Given the description of an element on the screen output the (x, y) to click on. 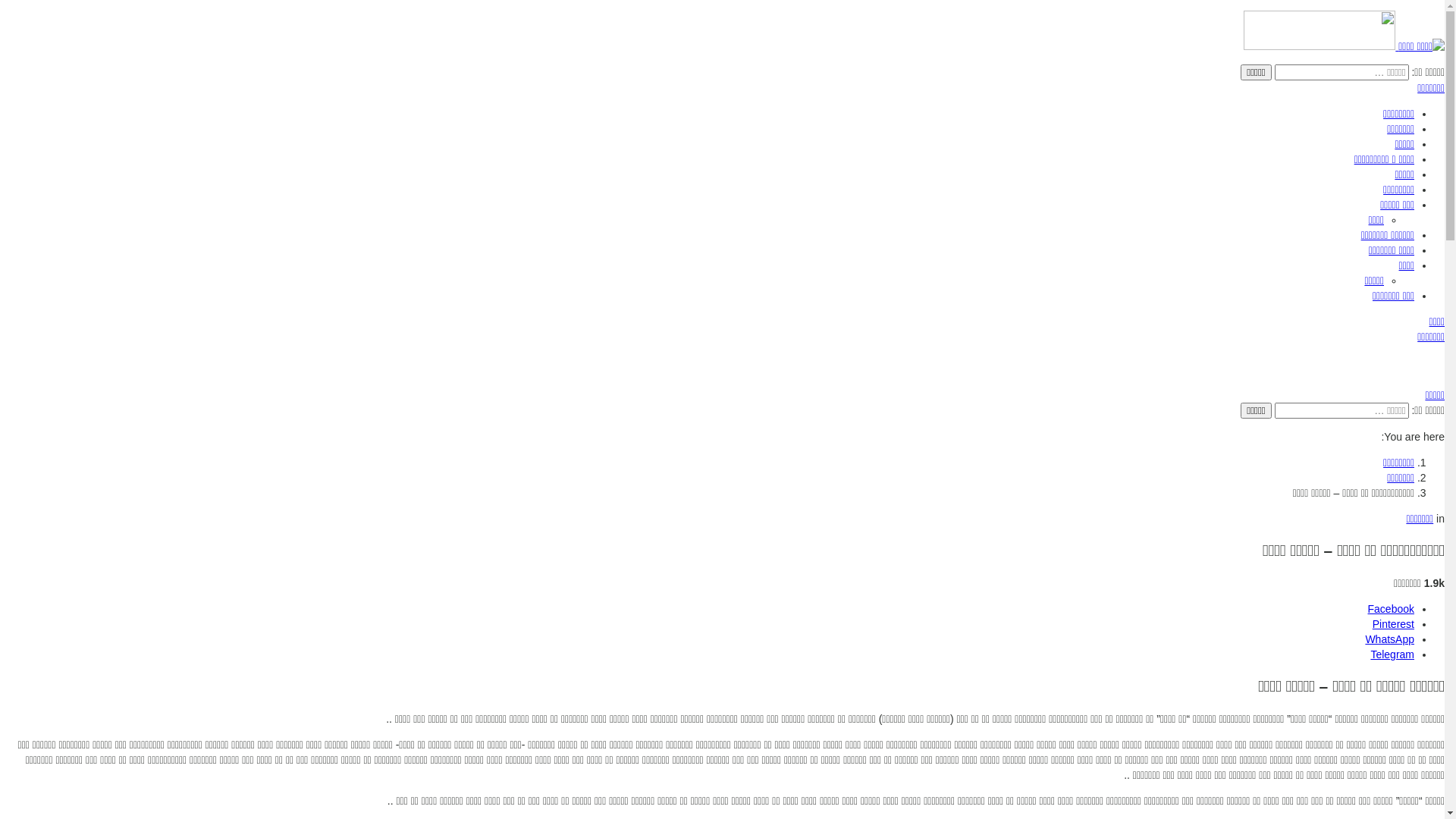
Pinterest Element type: text (1393, 624)
WhatsApp Element type: text (1389, 639)
Facebook Element type: text (1391, 608)
Telegram Element type: text (1392, 654)
